Given the description of an element on the screen output the (x, y) to click on. 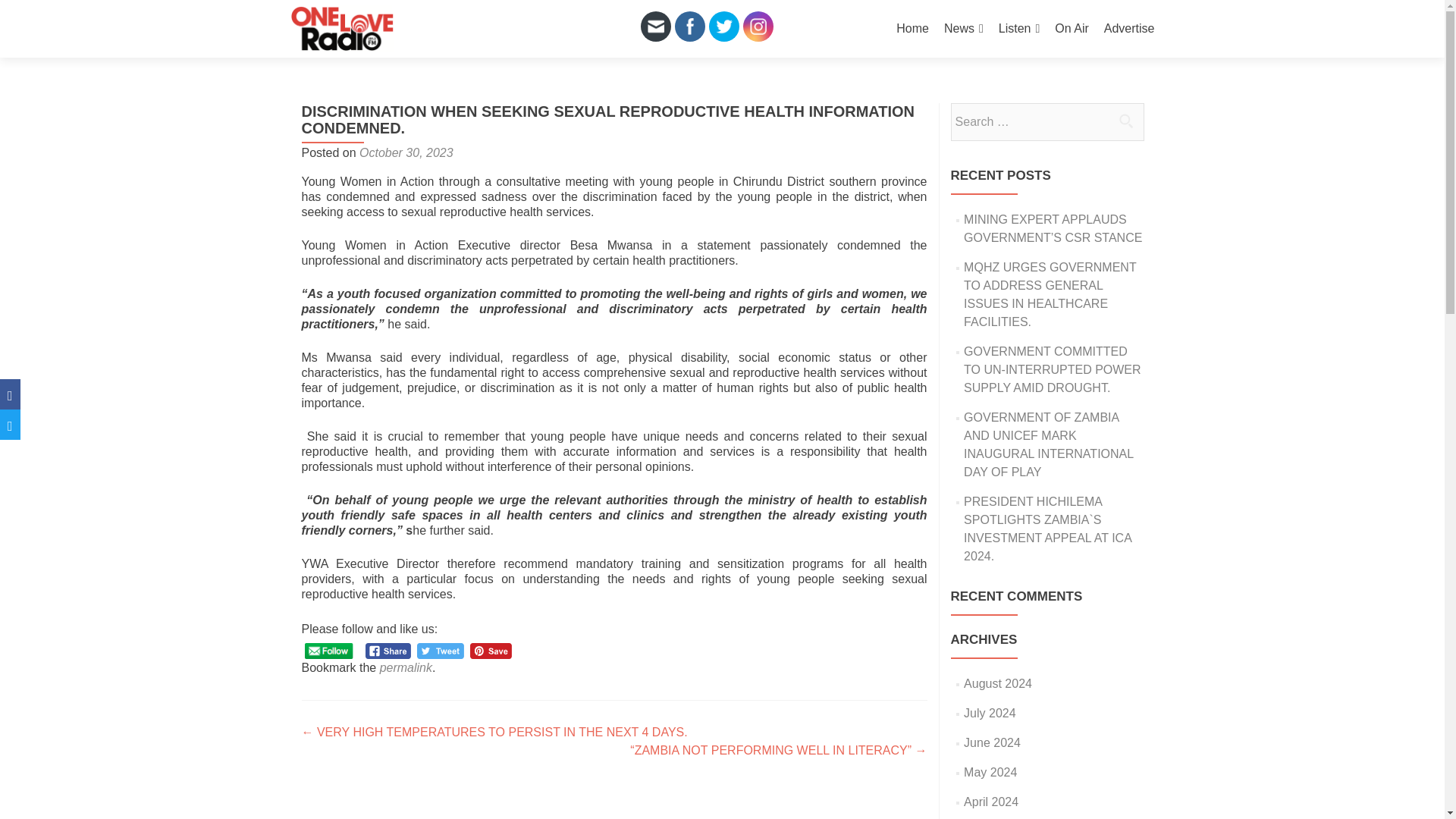
Search (1125, 120)
permalink (406, 667)
Twitter (724, 26)
On Air (1070, 28)
Advertise (1128, 28)
Pin Share (491, 650)
May 2024 (989, 771)
Facebook Share (388, 650)
April 2024 (990, 801)
